Given the description of an element on the screen output the (x, y) to click on. 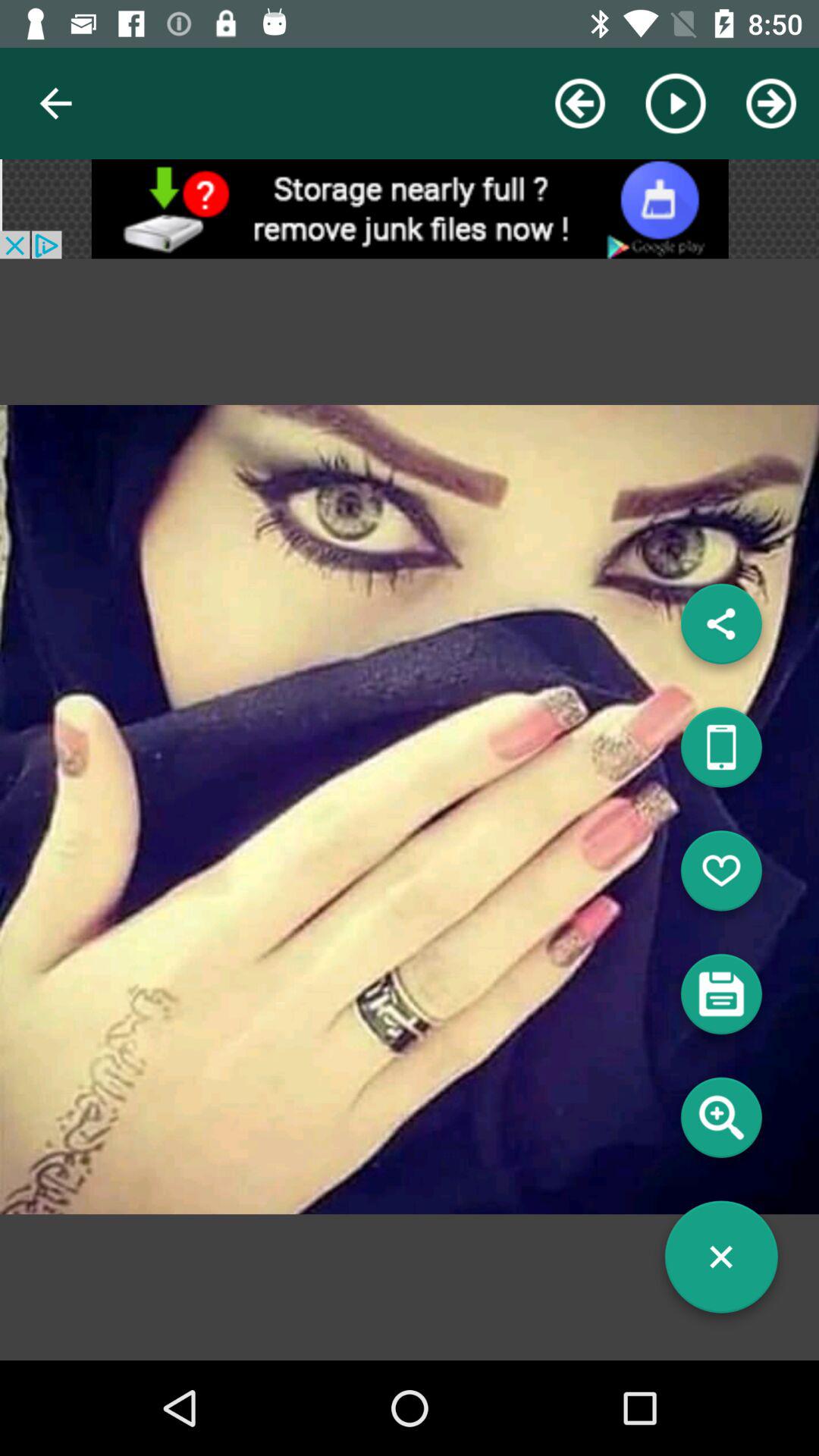
mobile (721, 753)
